Given the description of an element on the screen output the (x, y) to click on. 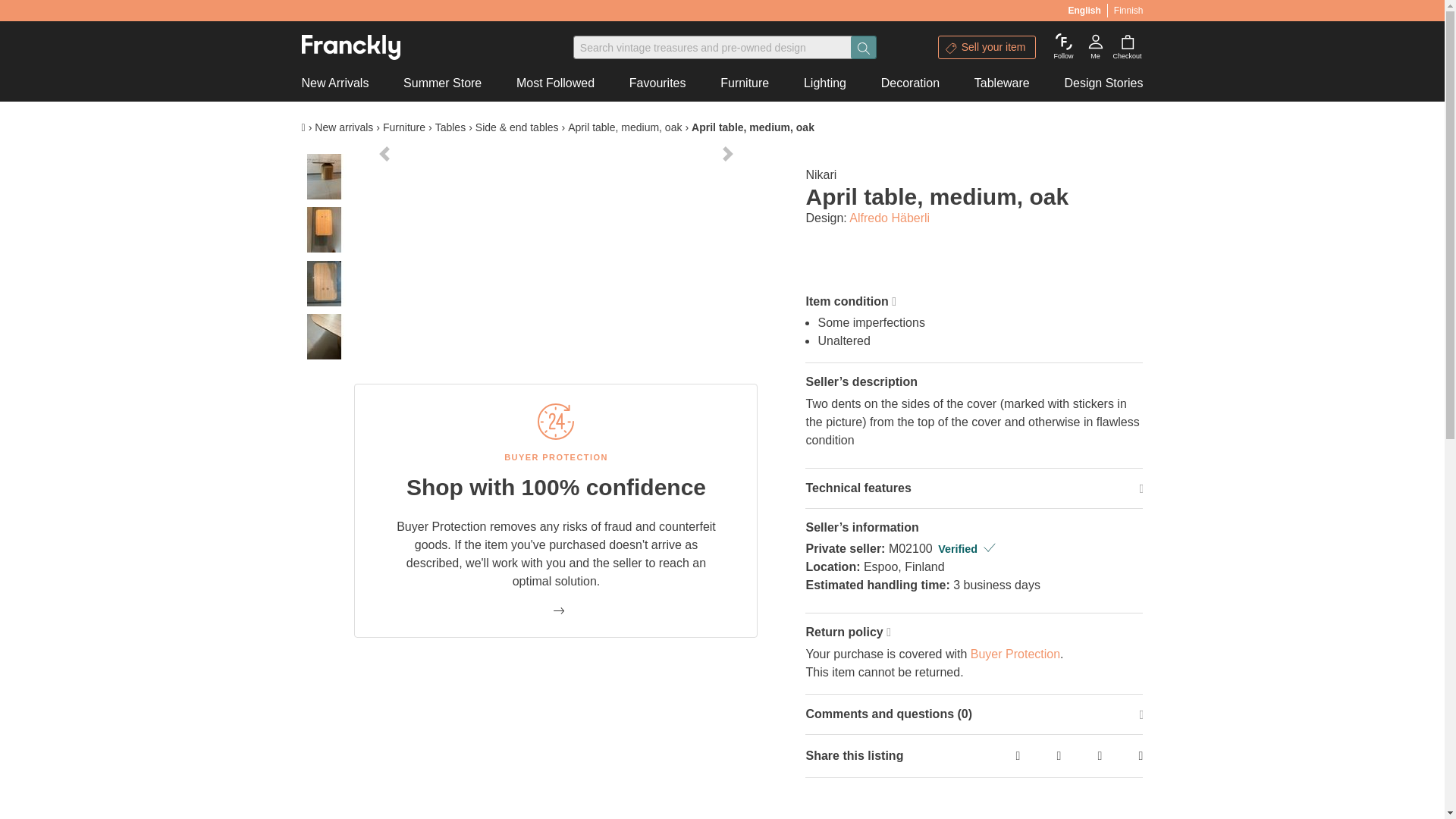
Favourites (657, 83)
Search (863, 47)
New arrivals (343, 127)
Decoration (909, 83)
Lighting (825, 83)
Most Followed (555, 83)
Checkout (1127, 47)
Design Stories (1100, 83)
English (1086, 7)
Tableware (1001, 83)
